Given the description of an element on the screen output the (x, y) to click on. 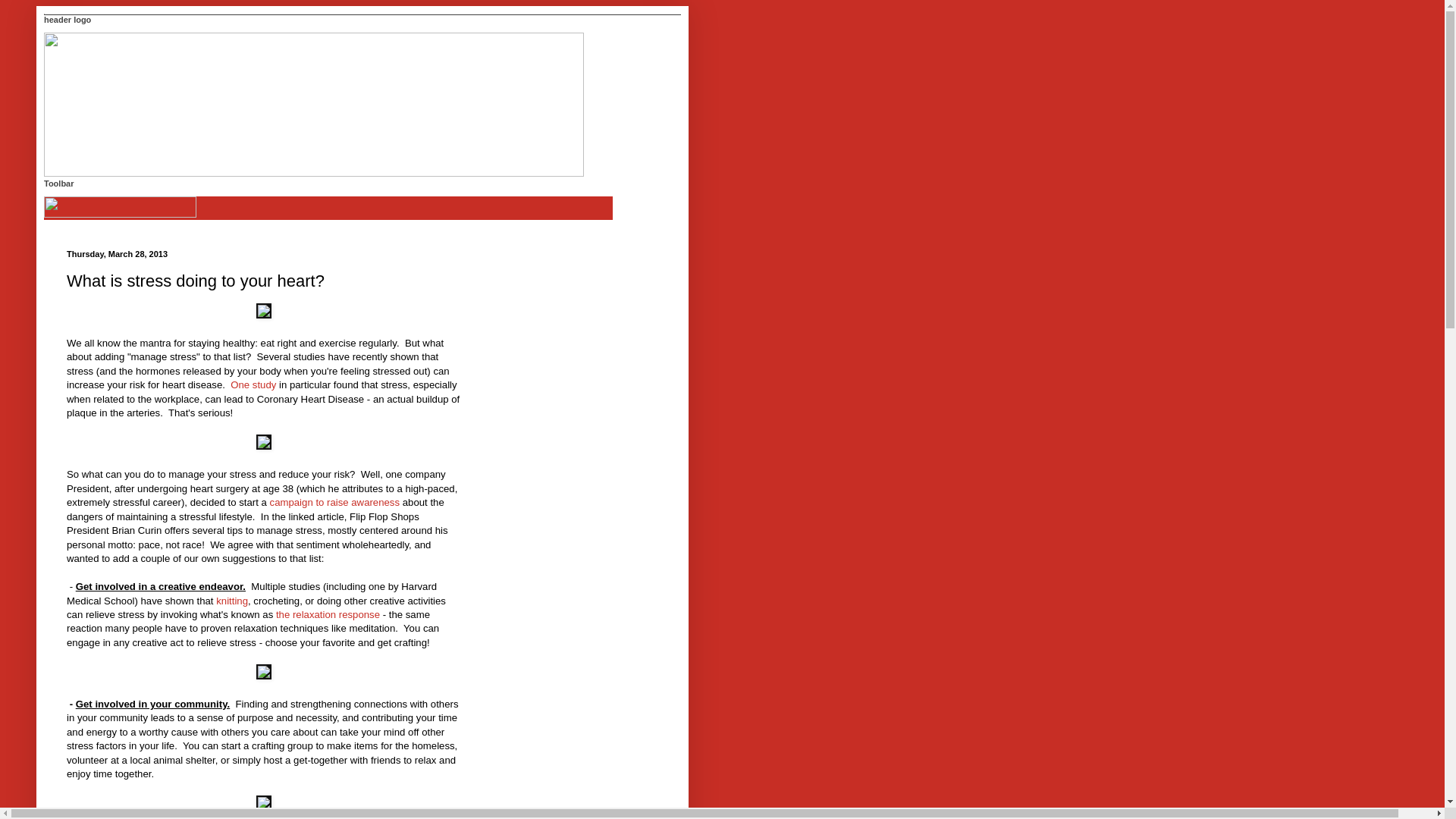
campaign to raise awareness (334, 501)
the relaxation response (326, 614)
knitting (231, 600)
One study (253, 384)
